Given the description of an element on the screen output the (x, y) to click on. 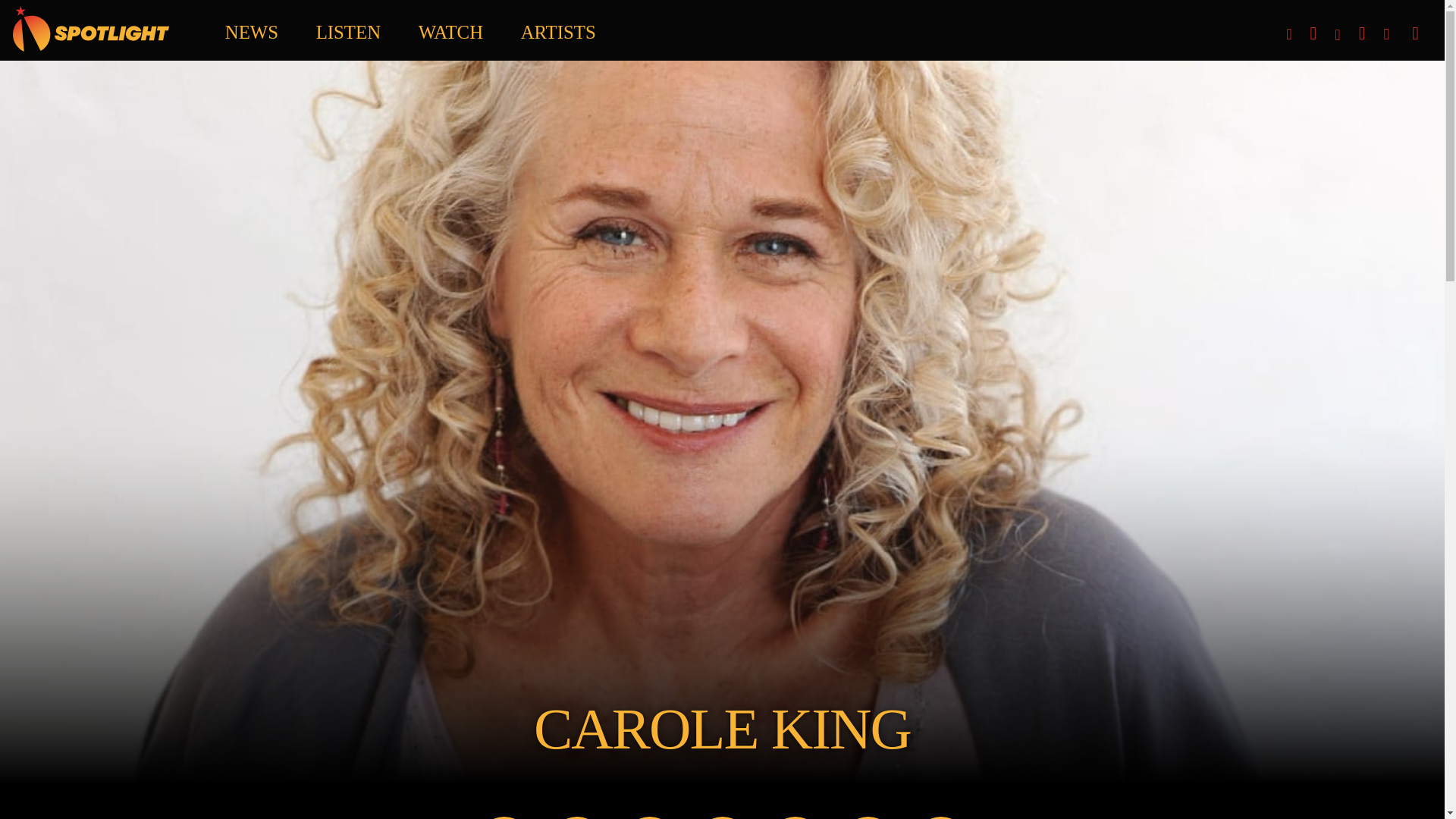
Sign-up to the Spotlight Newsletter (1386, 33)
Visit the Spotlight Instagram page (1288, 33)
Browse our Spotlight Artists (558, 28)
Read Spotlight news (251, 28)
LISTEN (347, 28)
NEWS (251, 28)
Visit the Spotlight Facebook page (1336, 33)
WATCH (450, 28)
Visit the Spotlight TikTok page (1313, 33)
Visit the Spotlight Twitter page (1361, 33)
Visit the Spotlight YouTube page (1267, 24)
ARTISTS (558, 28)
Listen to Spotlight music (347, 28)
Watch videos by Spotlight Artists (450, 28)
